Given the description of an element on the screen output the (x, y) to click on. 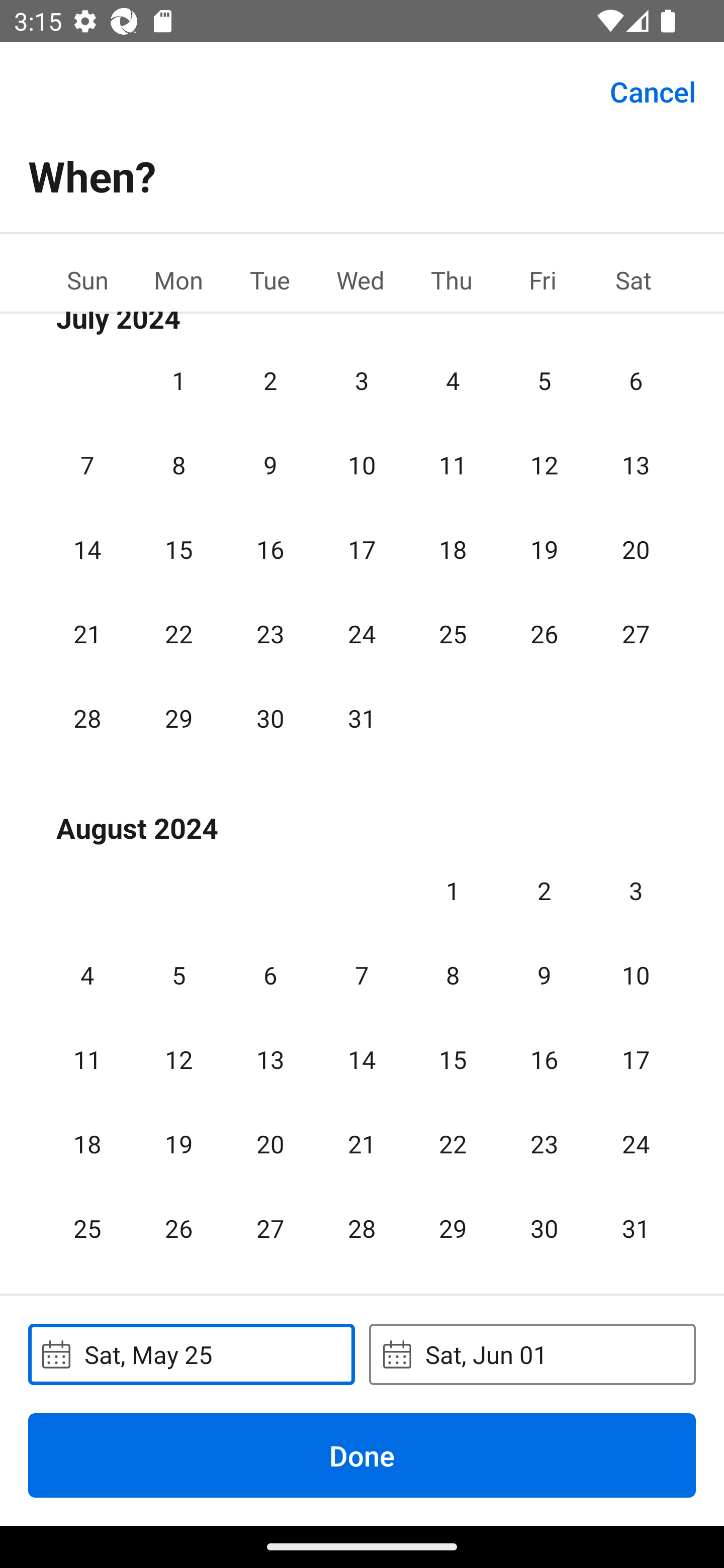
Cancel (652, 90)
Sat, May 25 (191, 1353)
Sat, Jun 01 (532, 1353)
Done (361, 1454)
